Given the description of an element on the screen output the (x, y) to click on. 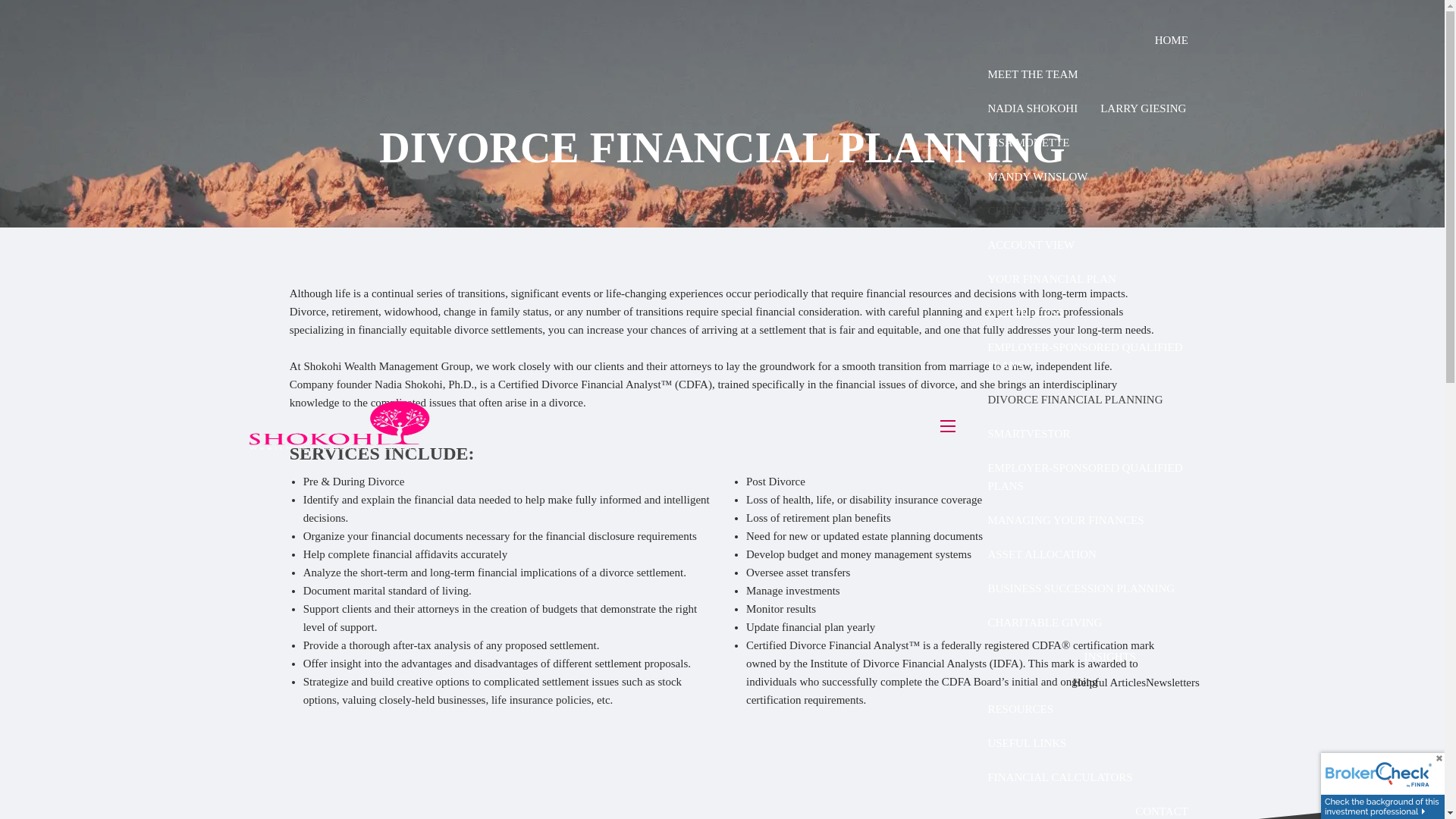
CHARITABLE GIVING (1044, 622)
INSIGHTS (1136, 656)
MANDY WINSLOW (1037, 175)
USEFUL LINKS (1026, 742)
LARRY GIESING (1142, 107)
SMARTVESTOR (1028, 433)
CONTACT (1161, 806)
MANDY WINSLOW (1037, 175)
BUSINESS SUCCESSION PLANNING (1080, 587)
